Given the description of an element on the screen output the (x, y) to click on. 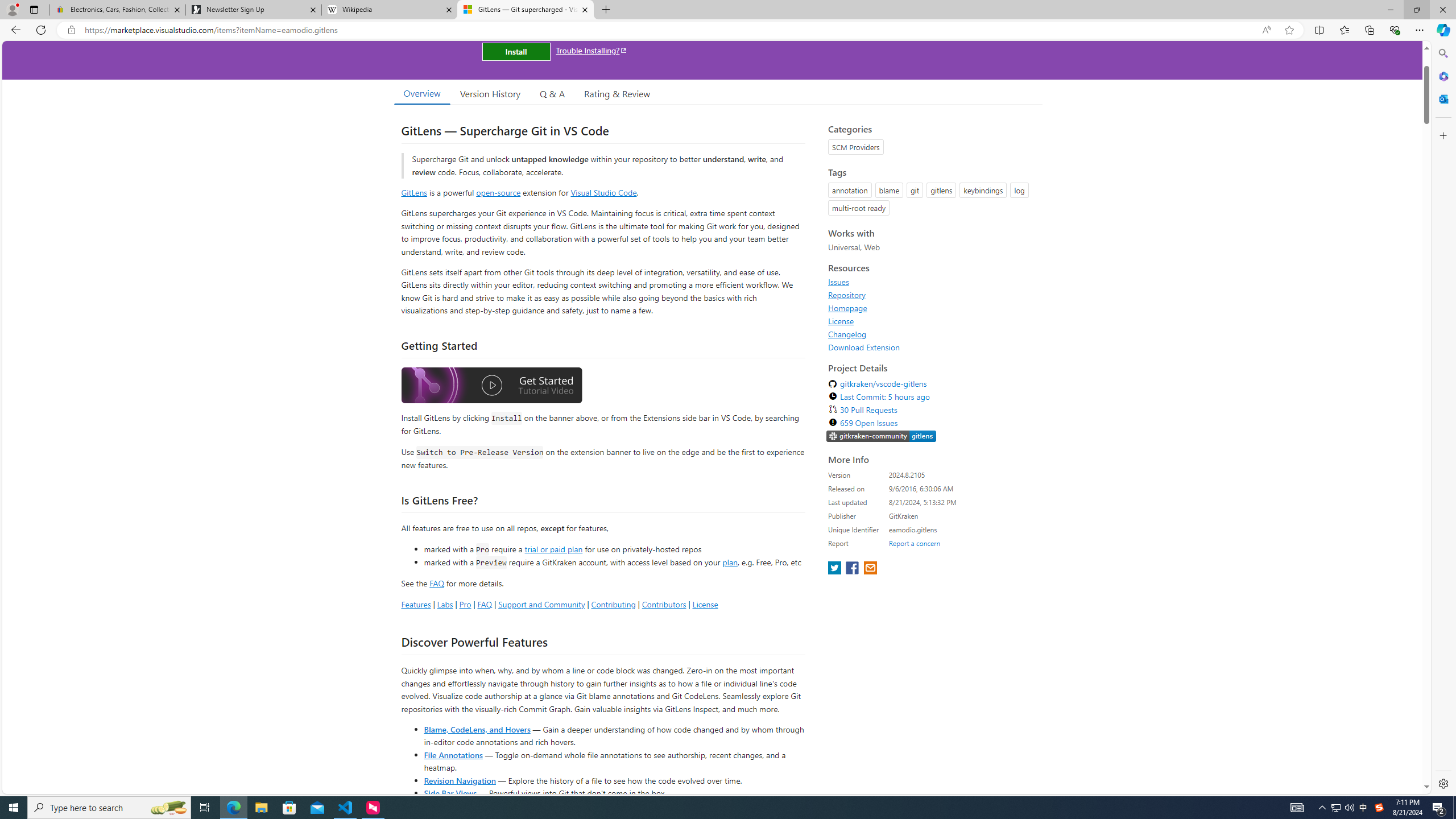
Q & A (552, 92)
Labs (444, 603)
Wikipedia (390, 9)
Homepage (931, 307)
Changelog (931, 333)
Homepage (847, 307)
